Given the description of an element on the screen output the (x, y) to click on. 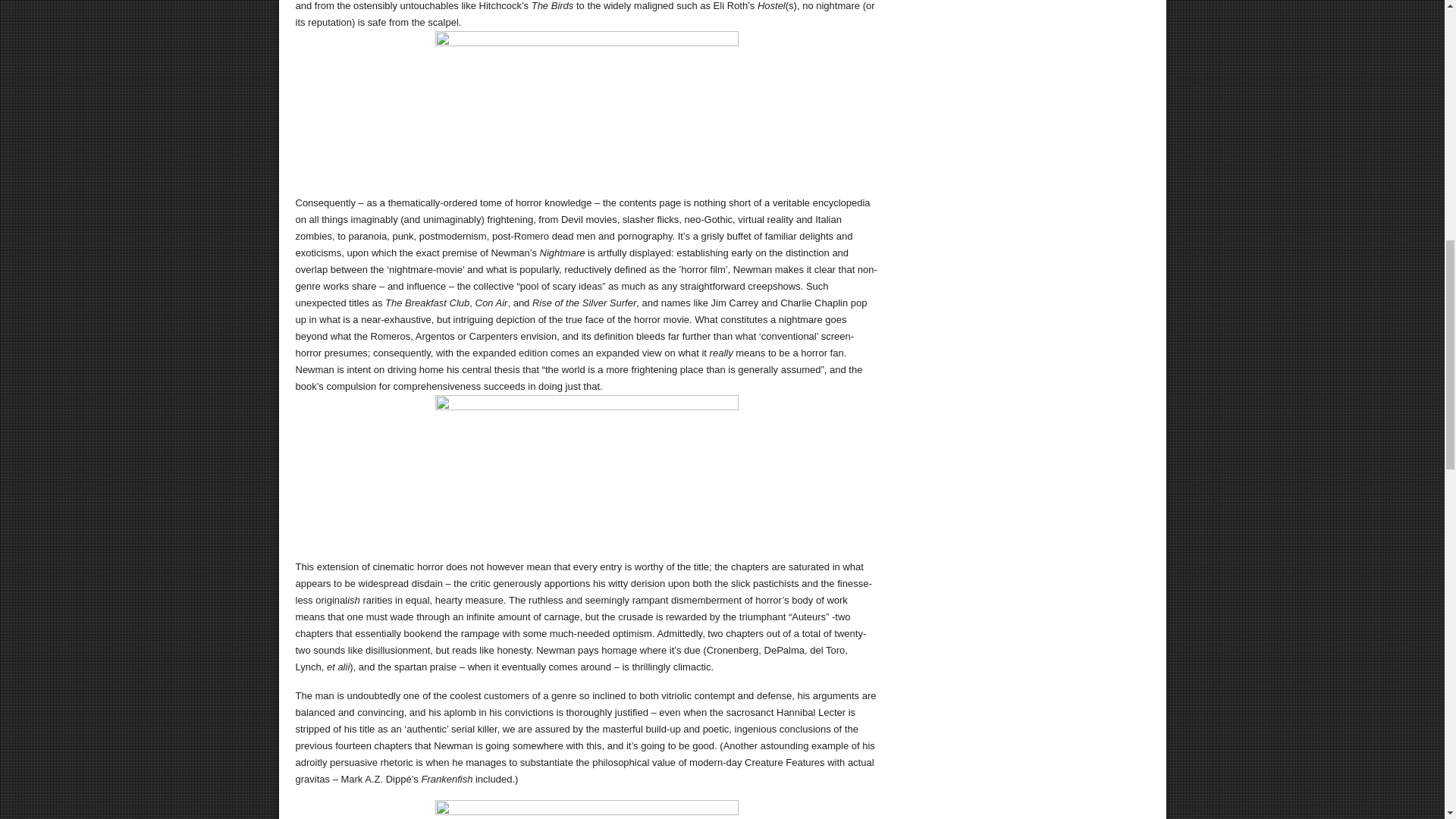
Piranha 3D (586, 809)
Hostel (586, 106)
Scanners (586, 470)
